Given the description of an element on the screen output the (x, y) to click on. 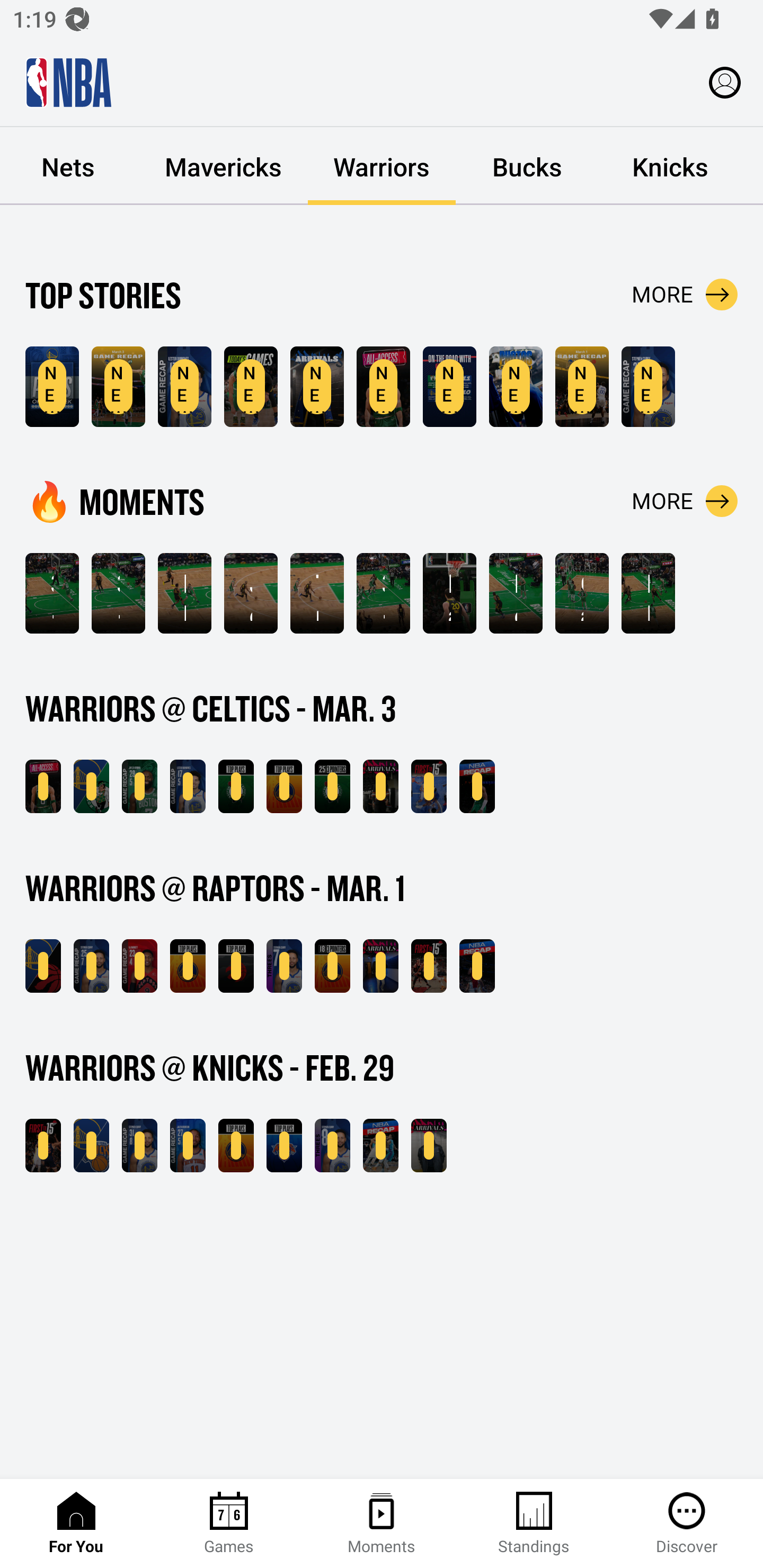
Profile (724, 81)
Nets (69, 166)
Mavericks (223, 166)
Bucks (526, 166)
Knicks (669, 166)
MORE (684, 294)
NEW GSW's Top Plays of Week 19 (51, 386)
NEW Warriors Game Recap vs. Celtics (117, 386)
NEW Highlights From Lester Quinones' 17-Point Game (184, 386)
NEW Warriors at Celtics (250, 386)
NEW Dubs' Fits in Boston 💧 (317, 386)
Warriors And Celtics Clash At TD Garden 🍀 NEW (383, 386)
On The Road With Hotels.com NEW (449, 386)
Top Pics at Toronto 📸 NEW (515, 386)
Highlights From Stephen Curry's 25-Point Game NEW (648, 386)
MORE (684, 500)
3-pointer by Lester Quinones (51, 593)
3-pointer by Lester Quinones (117, 593)
Block by Jerome Robinson (184, 593)
Jerome Robinson ascends for the slam! (250, 593)
Trayce Jackson-Davis denies the attempt (317, 593)
3-pointer by Gui Santos (383, 593)
Dario Saric with the And-1 (449, 593)
Moses Moody rises up for the dunk (515, 593)
Gary Payton II with the And-1 (581, 593)
Block by Trayce Jackson-Davis (648, 593)
Warriors And Celtics Clash At TD Garden 🍀 NEW (43, 785)
BOS 140, GSW 88 - Mar 3 NEW (91, 785)
Highlights From Jaylen Brown's 29-Point Game NEW (139, 785)
Highlights From Lester Quinones' 17-Point Game NEW (187, 785)
BOS' Top Plays from GSW vs. BOS NEW (236, 785)
GSW's Top Plays from GSW vs. BOS NEW (284, 785)
All 3-pointers from BOS' 25 3-pointer Night NEW (332, 785)
Steppin' Into Sunday 🔥 NEW (380, 785)
First To 15, Mar. 3rd NEW (428, 785)
Sunday's Recap NEW (477, 785)
NEW GSW 120, TOR 105 - Mar 1 (43, 965)
NEW Highlights From Stephen Curry's 25-Point Game (91, 965)
NEW Highlights From RJ Barrett's 23-Point Game (139, 965)
NEW GSW's Top Plays from GSW vs. TOR (187, 965)
NEW TOR's Top Plays from GSW vs. TOR (236, 965)
All 3-pointers from GSW's 18 3-pointer Night NEW (332, 965)
Which Fit From Friday Would You Rock? 🤔 NEW (380, 965)
First To 15: Mar. 1st NEW (428, 965)
Giannis' Big Night Highlights Friday's Action NEW (477, 965)
NEW First To 15: Feb. 29th (43, 1145)
NEW GSW 110, NYK 99 - Feb 29 (91, 1145)
NEW Highlights From Stephen Curry's 31-Point Game (139, 1145)
NEW Highlights From Jalen Brunson's 27-Point Game (187, 1145)
NEW GSW's Top Plays from GSW vs. NYK (236, 1145)
NYK's Top Plays from GSW vs. NYK NEW (284, 1145)
Thursday's Recap NEW (380, 1145)
Thursday Night's Arrivals 🔥 NEW (428, 1145)
Games (228, 1523)
Moments (381, 1523)
Standings (533, 1523)
Discover (686, 1523)
